Given the description of an element on the screen output the (x, y) to click on. 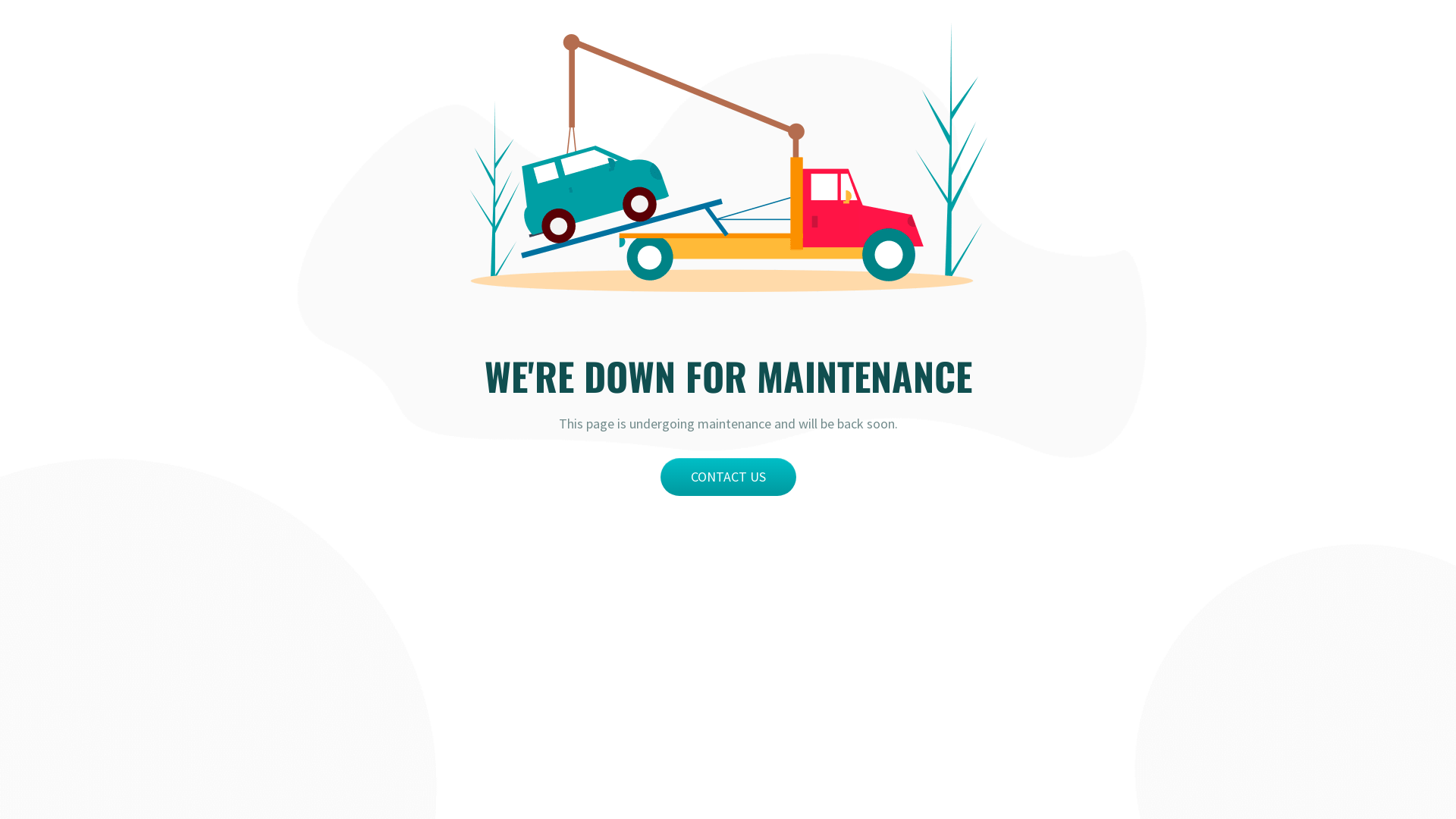
CONTACT US Element type: text (727, 476)
